Given the description of an element on the screen output the (x, y) to click on. 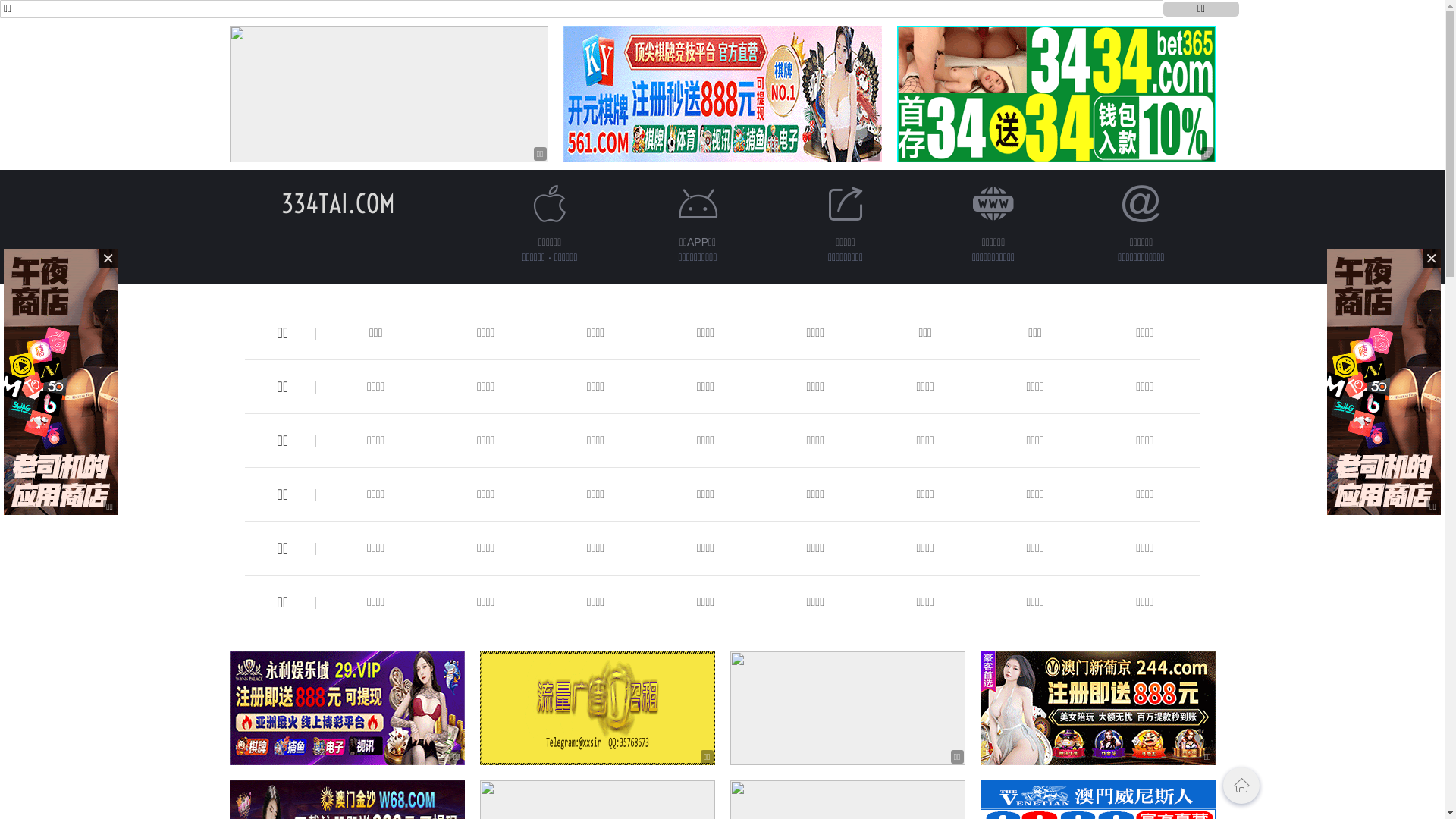
334TAI.COM Element type: text (337, 203)
